Given the description of an element on the screen output the (x, y) to click on. 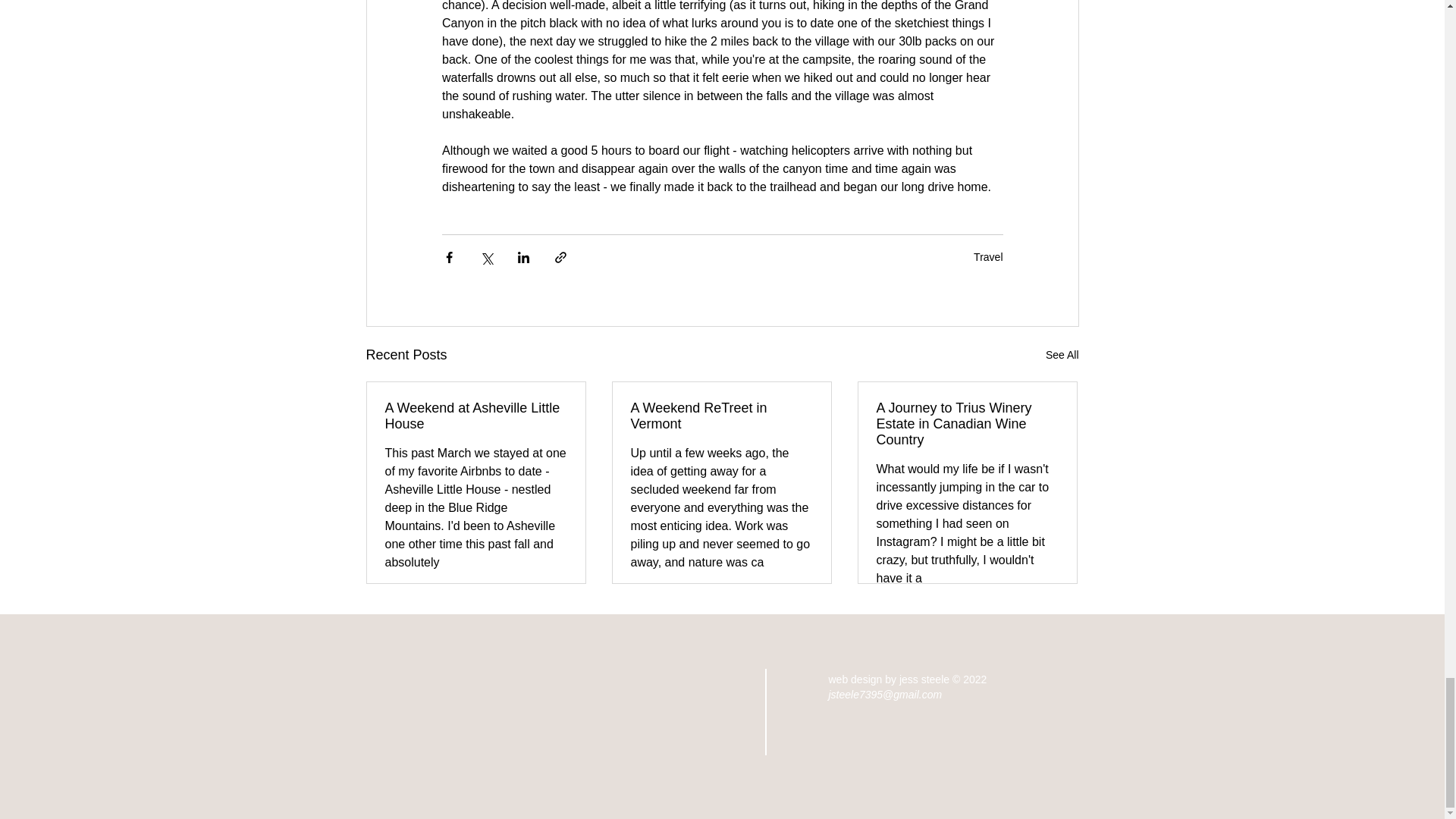
A Journey to Trius Winery Estate in Canadian Wine Country (967, 423)
Travel (988, 256)
See All (1061, 354)
A Weekend ReTreet in Vermont (721, 416)
A Weekend at Asheville Little House (476, 416)
